Given the description of an element on the screen output the (x, y) to click on. 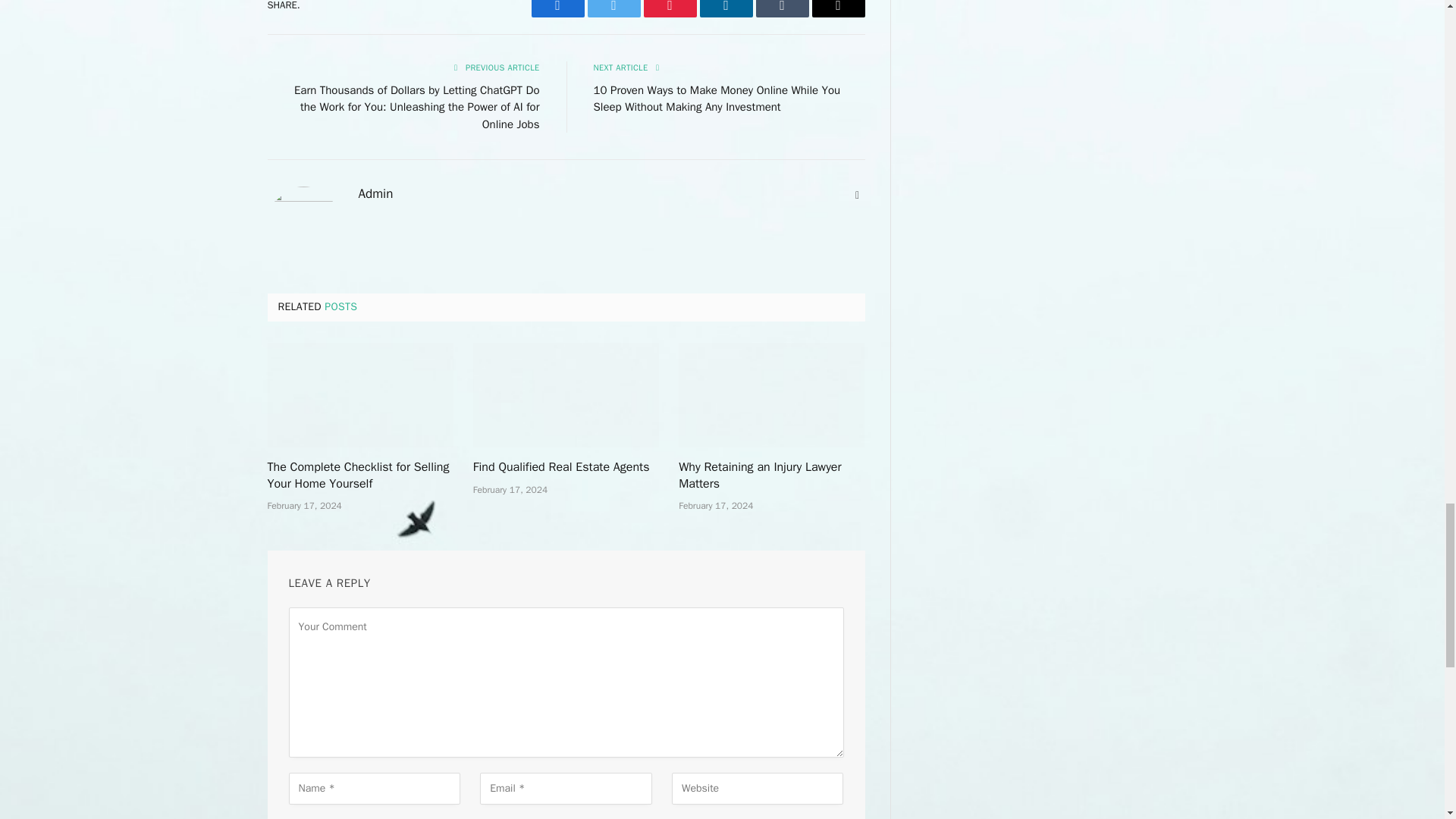
Twitter (613, 8)
Facebook (557, 8)
LinkedIn (725, 8)
Pinterest (669, 8)
